Given the description of an element on the screen output the (x, y) to click on. 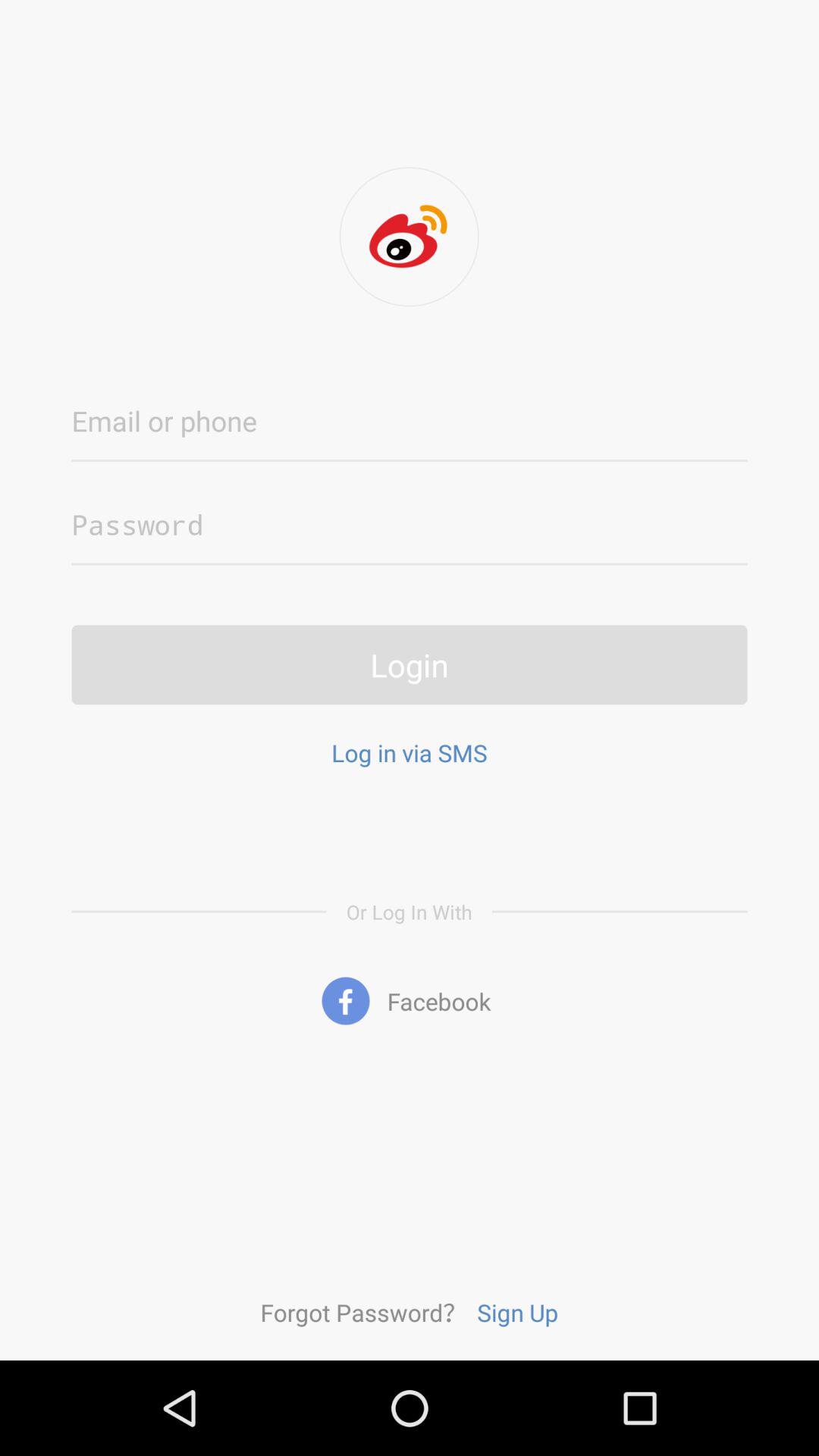
press the sign up (517, 1312)
